Given the description of an element on the screen output the (x, y) to click on. 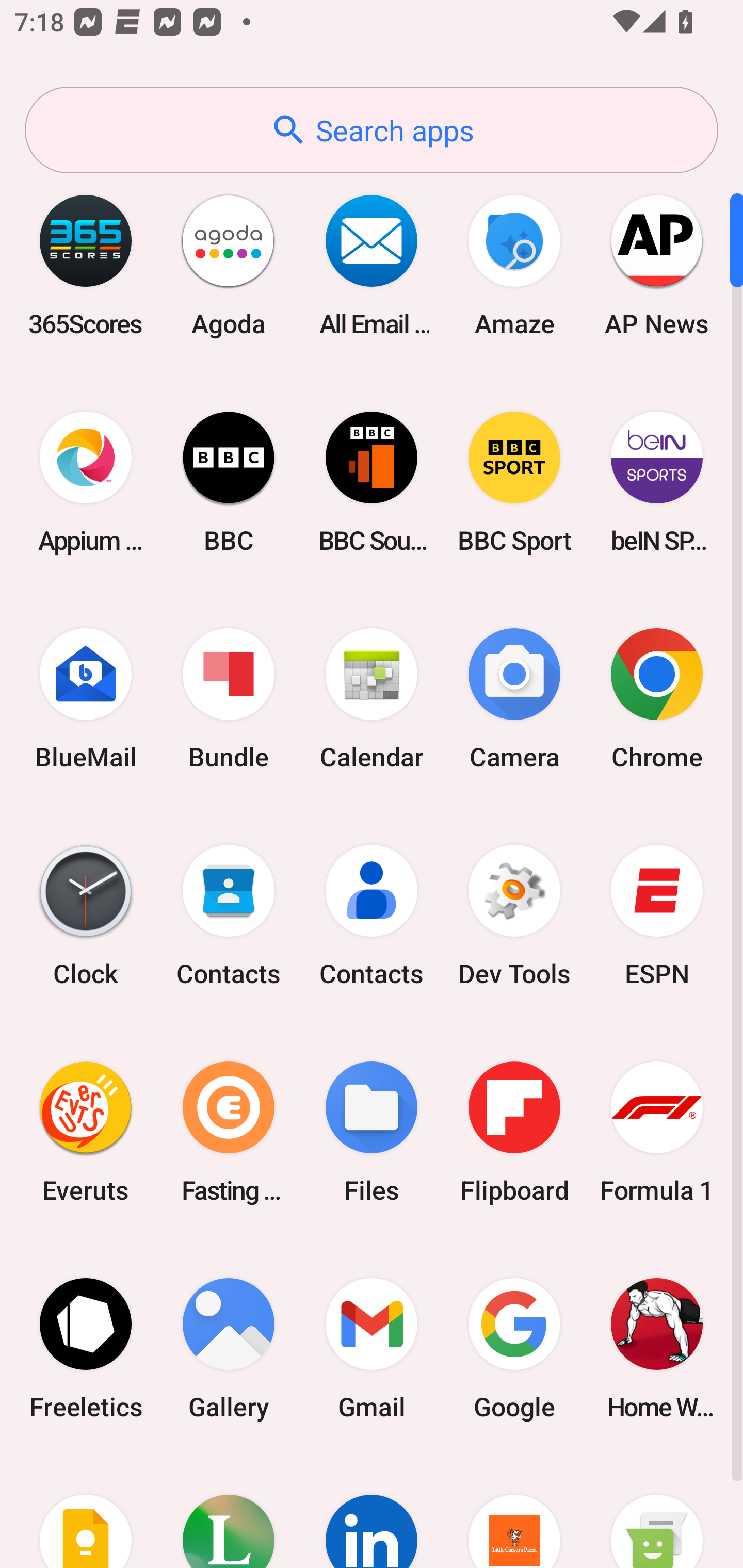
  Search apps (371, 130)
365Scores (85, 264)
Agoda (228, 264)
All Email Connect (371, 264)
Amaze (514, 264)
AP News (656, 264)
Appium Settings (85, 482)
BBC (228, 482)
BBC Sounds (371, 482)
BBC Sport (514, 482)
beIN SPORTS (656, 482)
BlueMail (85, 699)
Bundle (228, 699)
Calendar (371, 699)
Camera (514, 699)
Chrome (656, 699)
Clock (85, 915)
Contacts (228, 915)
Contacts (371, 915)
Dev Tools (514, 915)
ESPN (656, 915)
Everuts (85, 1131)
Fasting Coach (228, 1131)
Files (371, 1131)
Flipboard (514, 1131)
Formula 1 (656, 1131)
Freeletics (85, 1348)
Gallery (228, 1348)
Gmail (371, 1348)
Google (514, 1348)
Home Workout (656, 1348)
Keep Notes (85, 1512)
Lifesum (228, 1512)
LinkedIn (371, 1512)
Little Caesars Pizza (514, 1512)
Messaging (656, 1512)
